Given the description of an element on the screen output the (x, y) to click on. 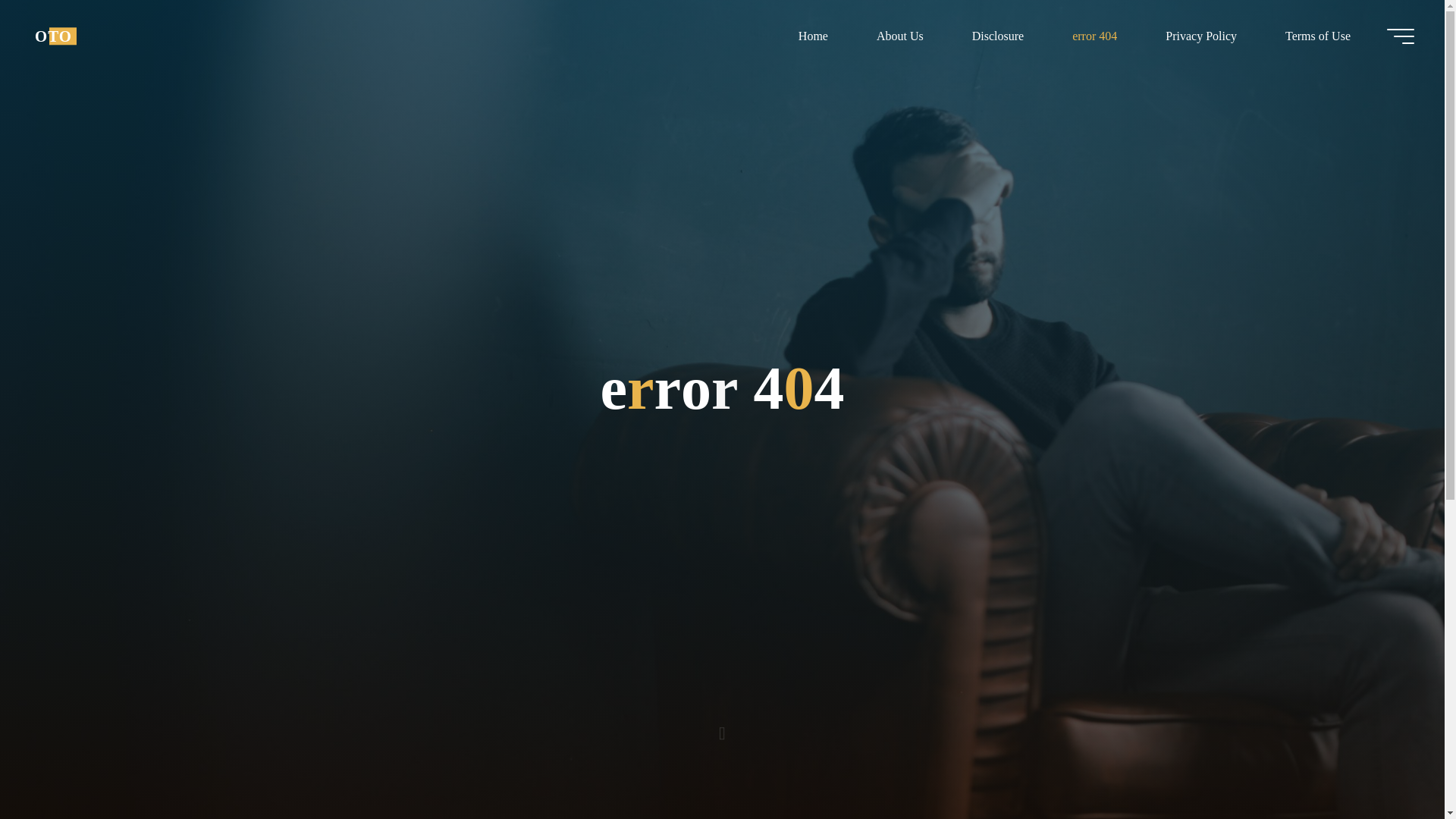
Home (812, 35)
Disclosure (997, 35)
Privacy Policy (1200, 35)
Terms of Use (1317, 35)
OTO (53, 36)
Read more (721, 724)
error 404 (1094, 35)
About Us (899, 35)
